Given the description of an element on the screen output the (x, y) to click on. 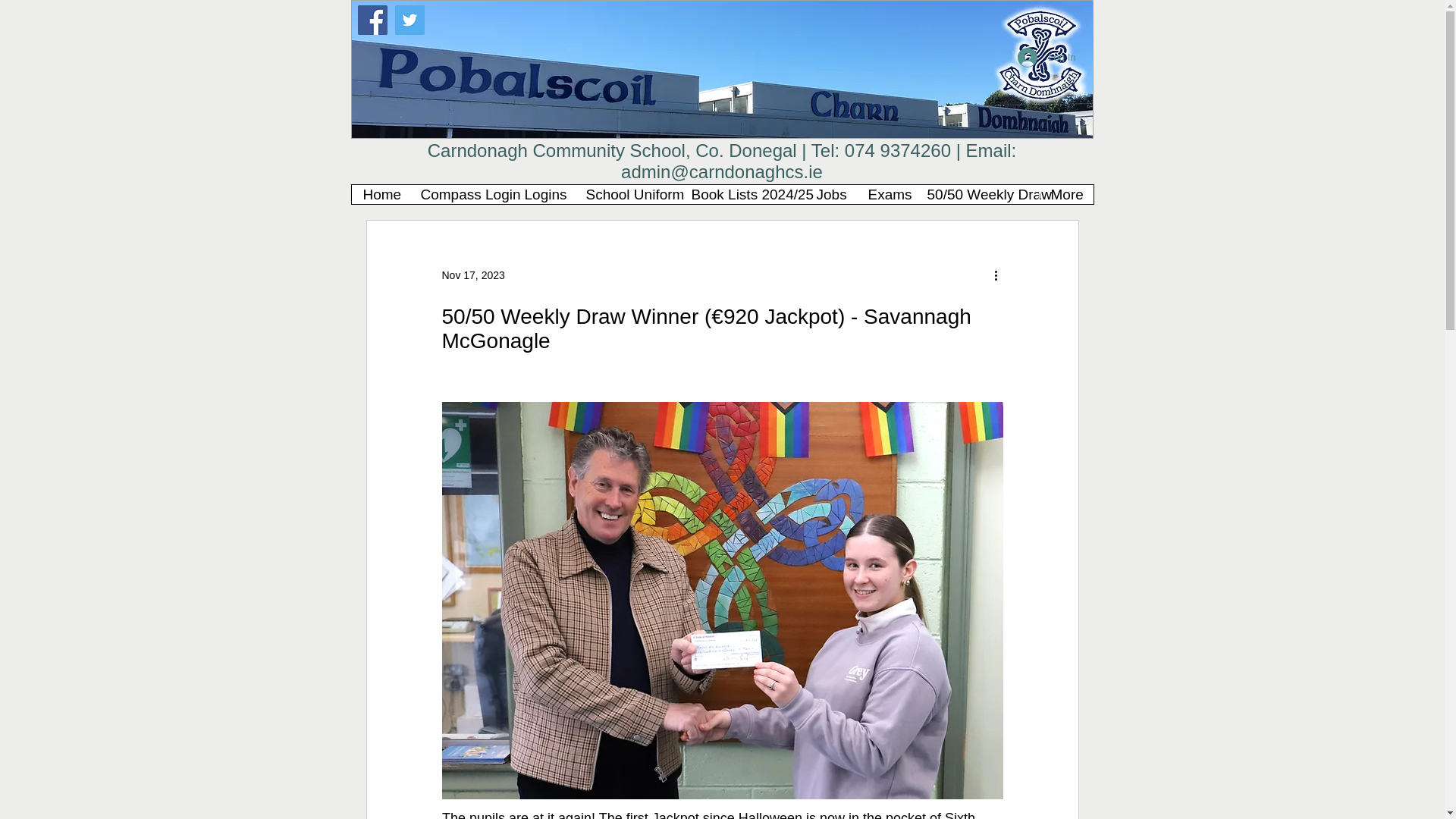
Log In (1046, 57)
Exams (885, 194)
Home (380, 194)
Compass Login (459, 194)
Nov 17, 2023 (472, 274)
School Uniform (625, 194)
Jobs (829, 194)
